Given the description of an element on the screen output the (x, y) to click on. 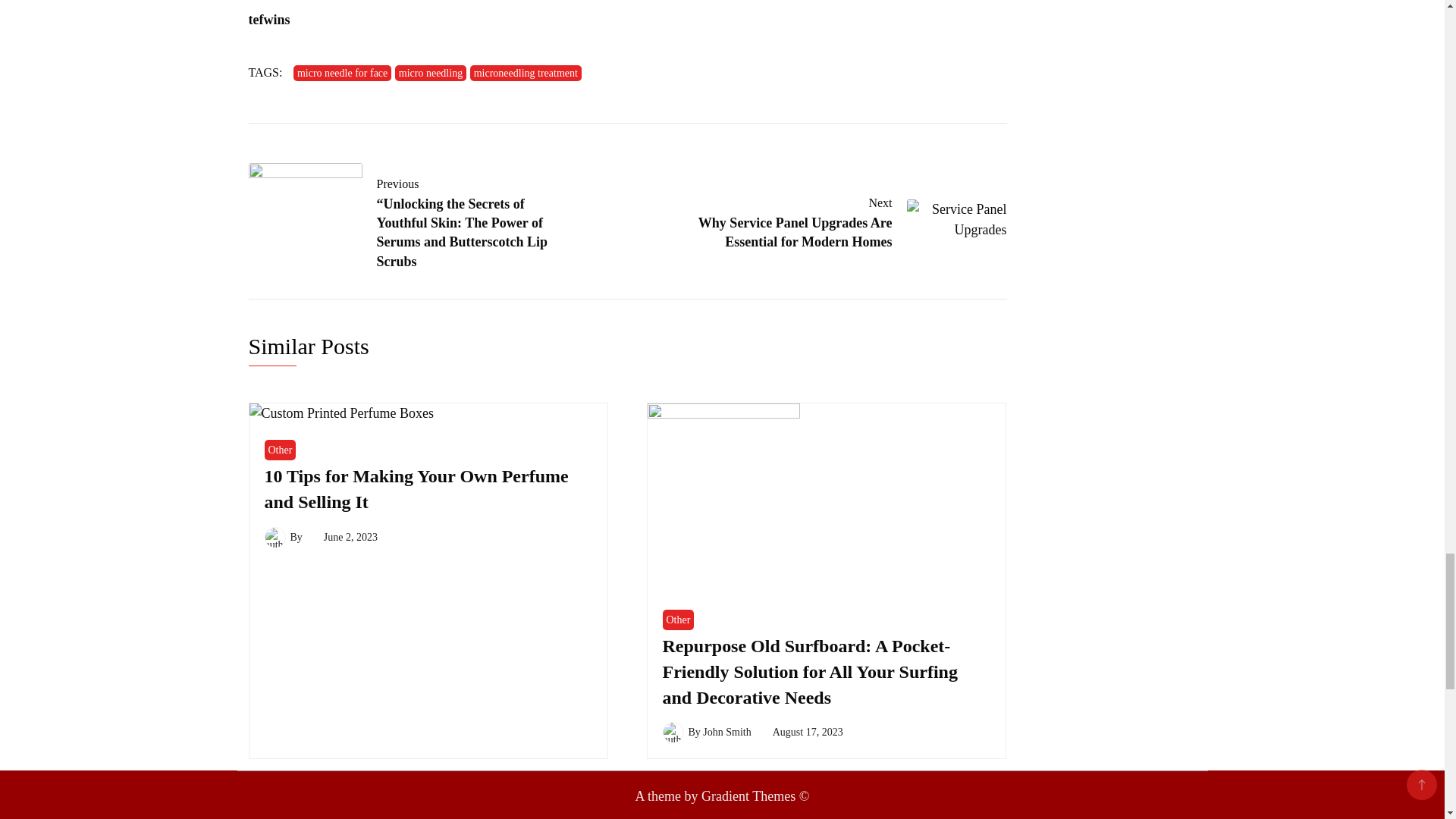
Other (279, 449)
tefwins (268, 19)
micro needle for face (342, 73)
microneedling treatment (525, 73)
micro needling (429, 73)
